Given the description of an element on the screen output the (x, y) to click on. 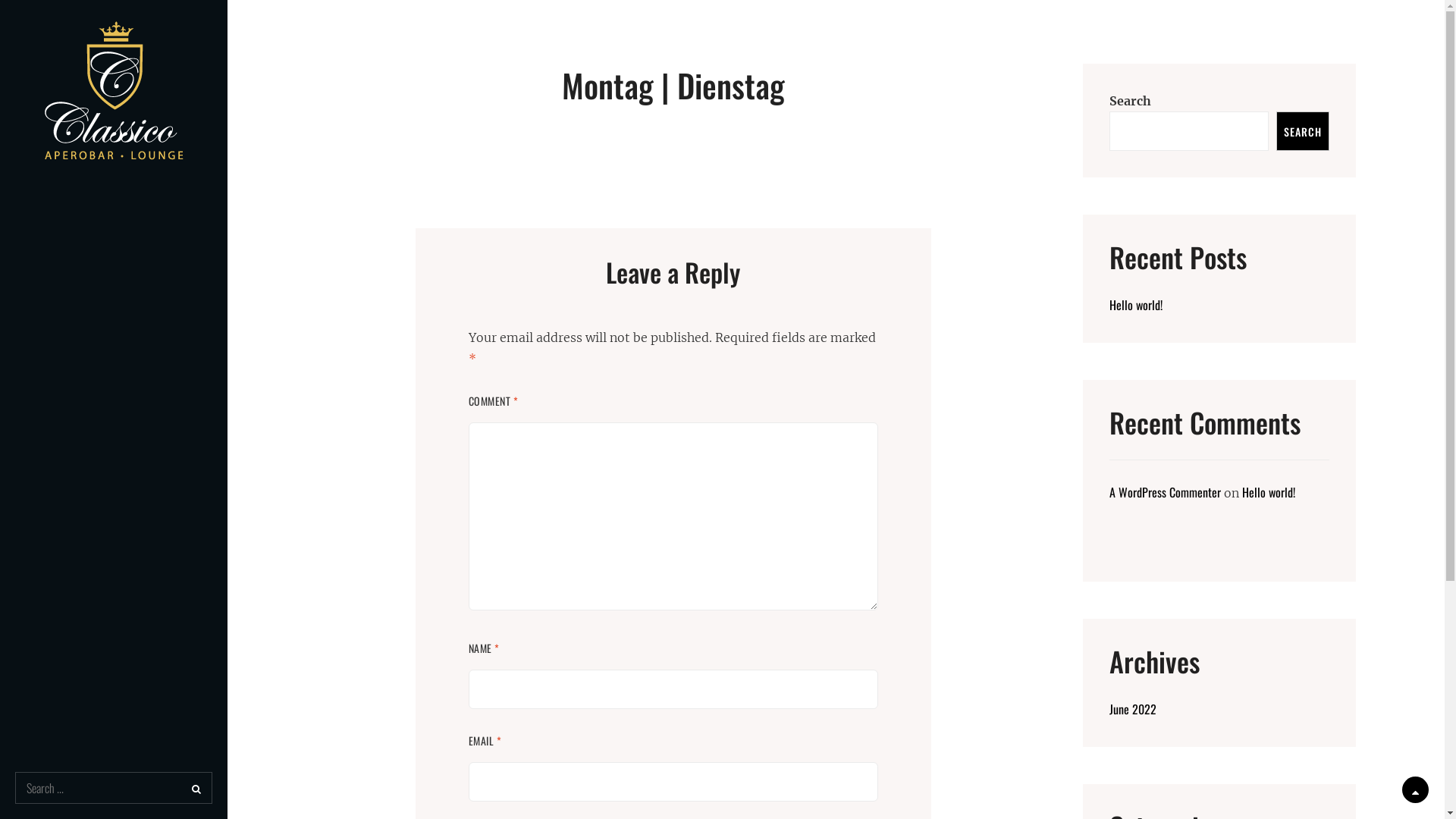
Hello world! Element type: text (1135, 304)
June 2022 Element type: text (1132, 708)
Hello world! Element type: text (1268, 492)
Scroll Up Element type: text (1415, 789)
A WordPress Commenter Element type: text (1164, 492)
SEARCH Element type: text (1302, 130)
Search for: Element type: hover (113, 787)
